Given the description of an element on the screen output the (x, y) to click on. 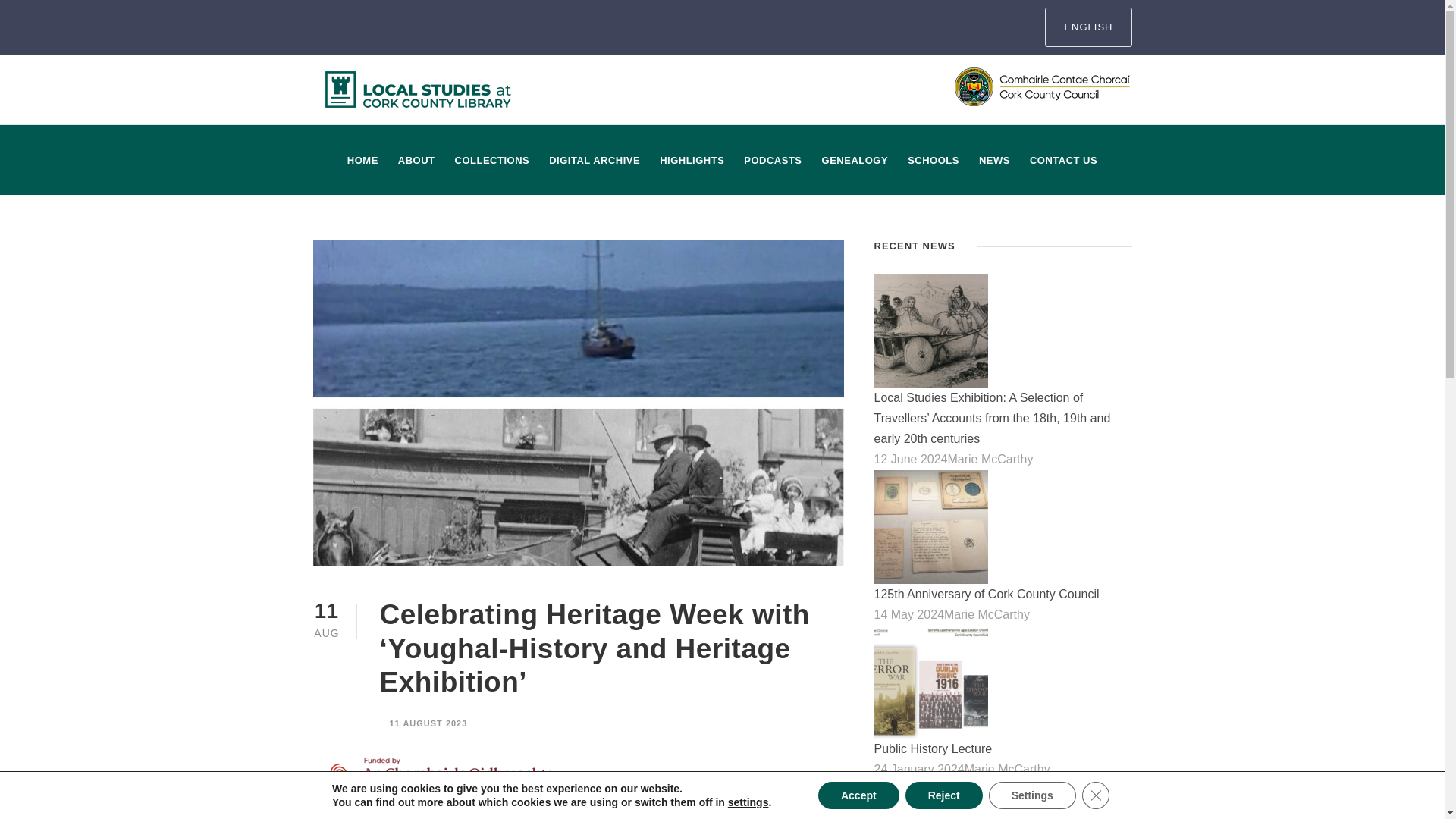
Posts by Marie McCarthy (990, 459)
ENGLISH (1088, 26)
Posts by Marie McCarthy (986, 614)
Posts by Marie McCarthy (1006, 768)
col-icon-3 (1042, 87)
COLLECTIONS (491, 173)
logoprsmalldarkgreen (418, 88)
image (931, 330)
Image 4 (931, 681)
Image for social media (931, 526)
